Given the description of an element on the screen output the (x, y) to click on. 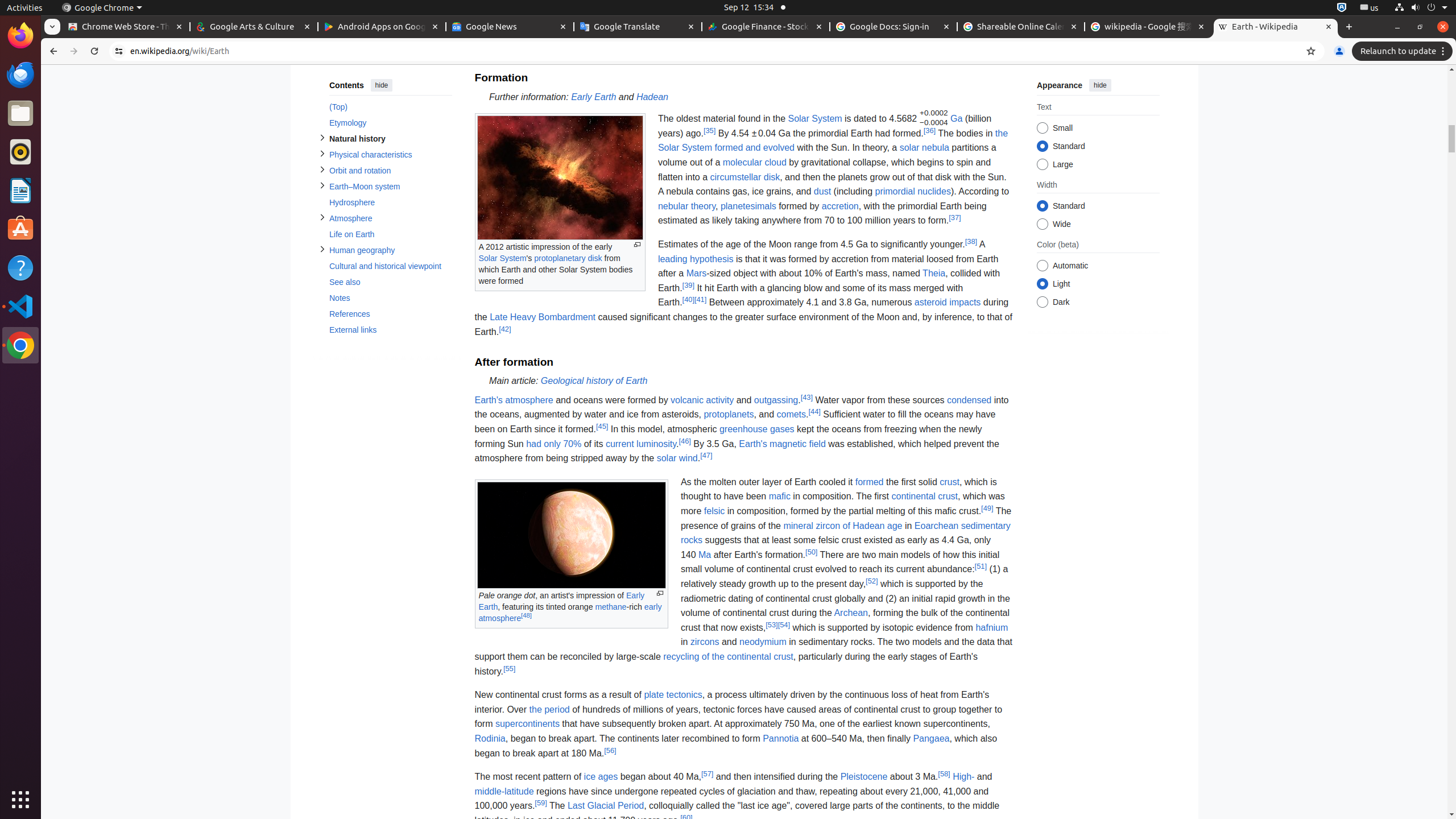
the period Element type: link (548, 709)
See also Element type: link (390, 282)
Last Glacial Period Element type: link (605, 805)
[51] Element type: link (980, 566)
comets Element type: link (791, 414)
